Given the description of an element on the screen output the (x, y) to click on. 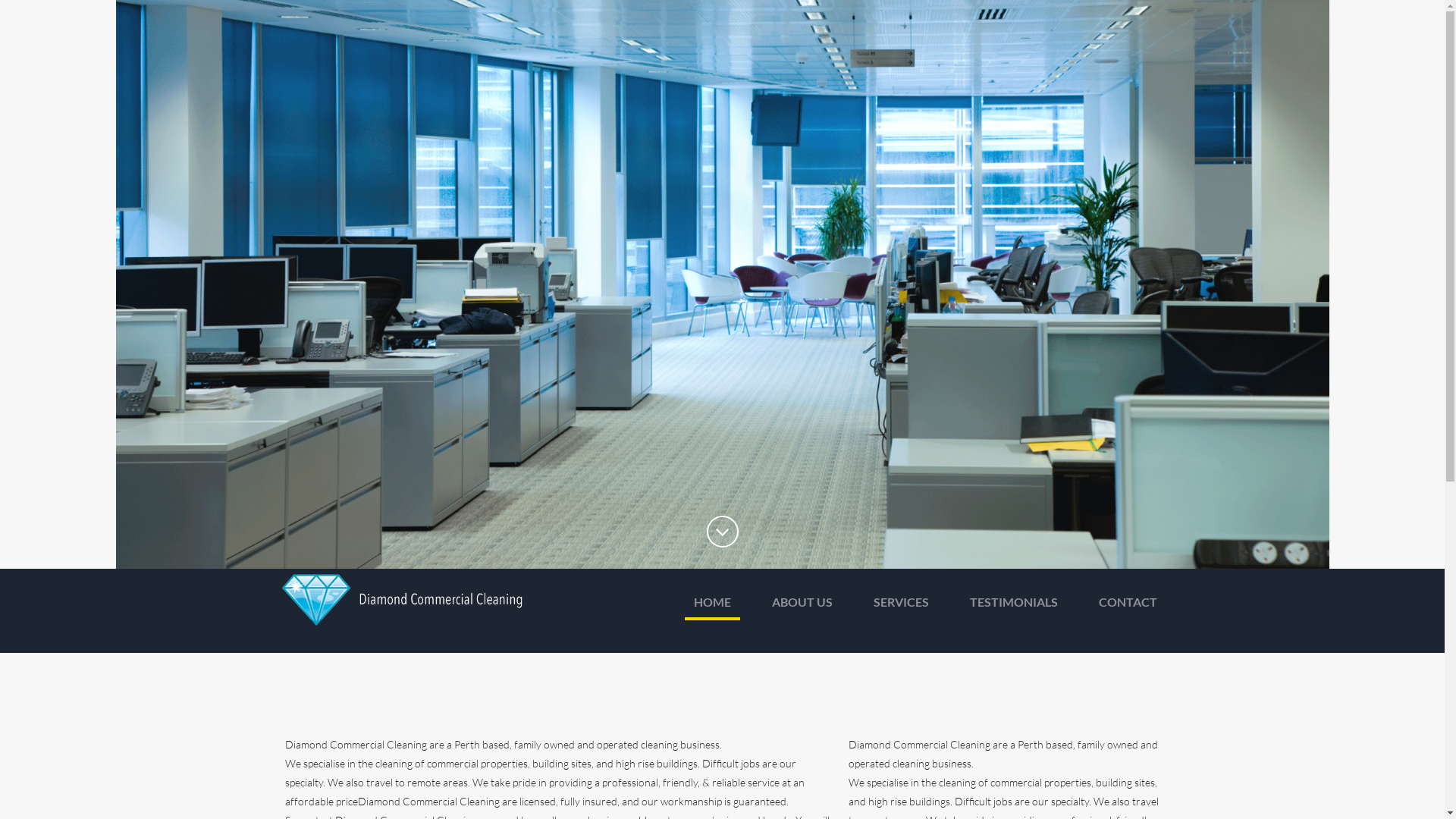
ABOUT US Element type: text (801, 606)
HOME Element type: text (711, 606)
CONTACT Element type: text (1126, 606)
SERVICES Element type: text (901, 606)
TESTIMONIALS Element type: text (1013, 606)
